Given the description of an element on the screen output the (x, y) to click on. 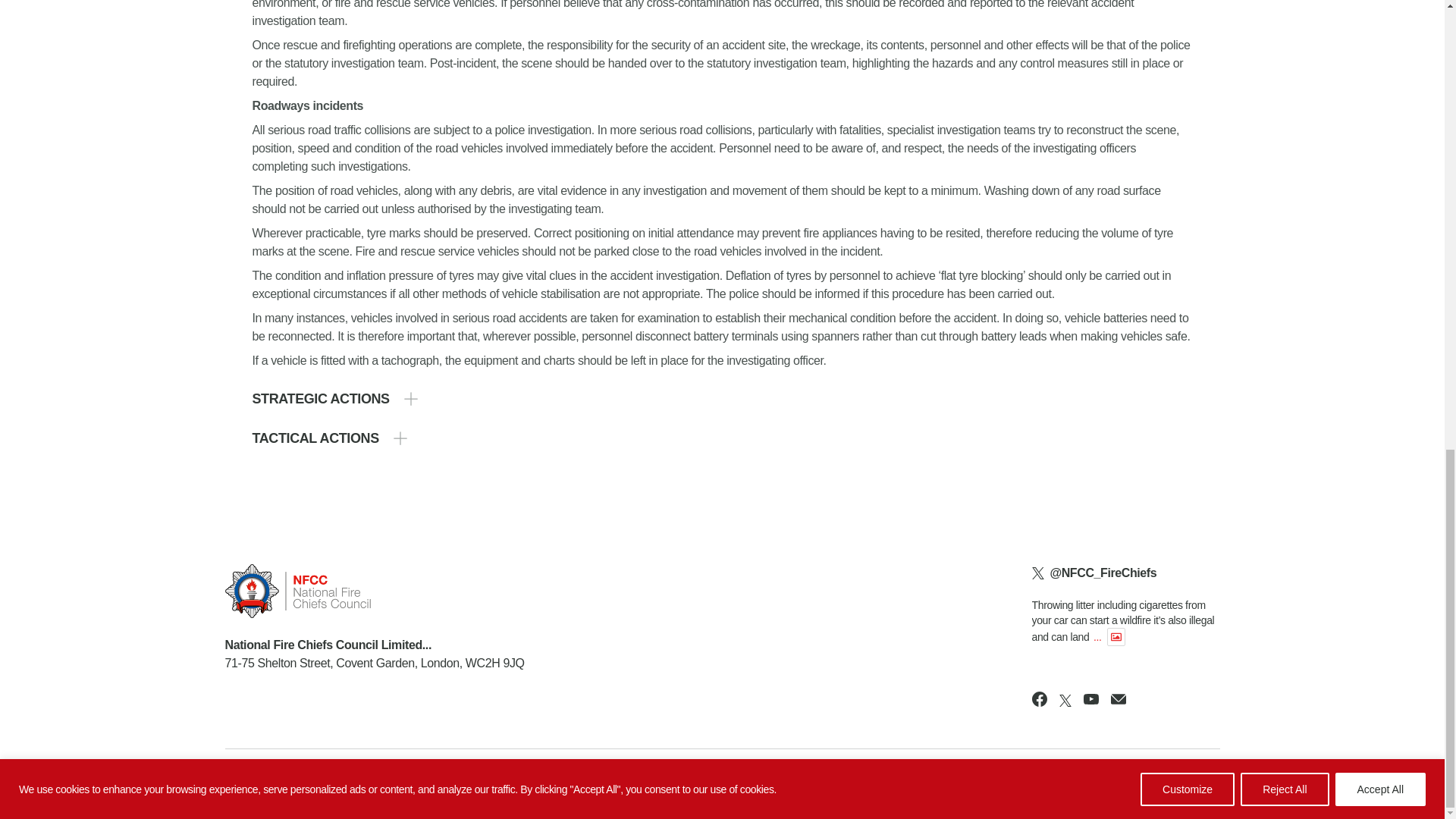
NFCC Twitter (1065, 700)
NFCC Youtube (1091, 698)
NFCC Email (1117, 698)
Clicking NFCC logo sends you to the home page (374, 591)
NFCC Facebook (1038, 698)
